Given the description of an element on the screen output the (x, y) to click on. 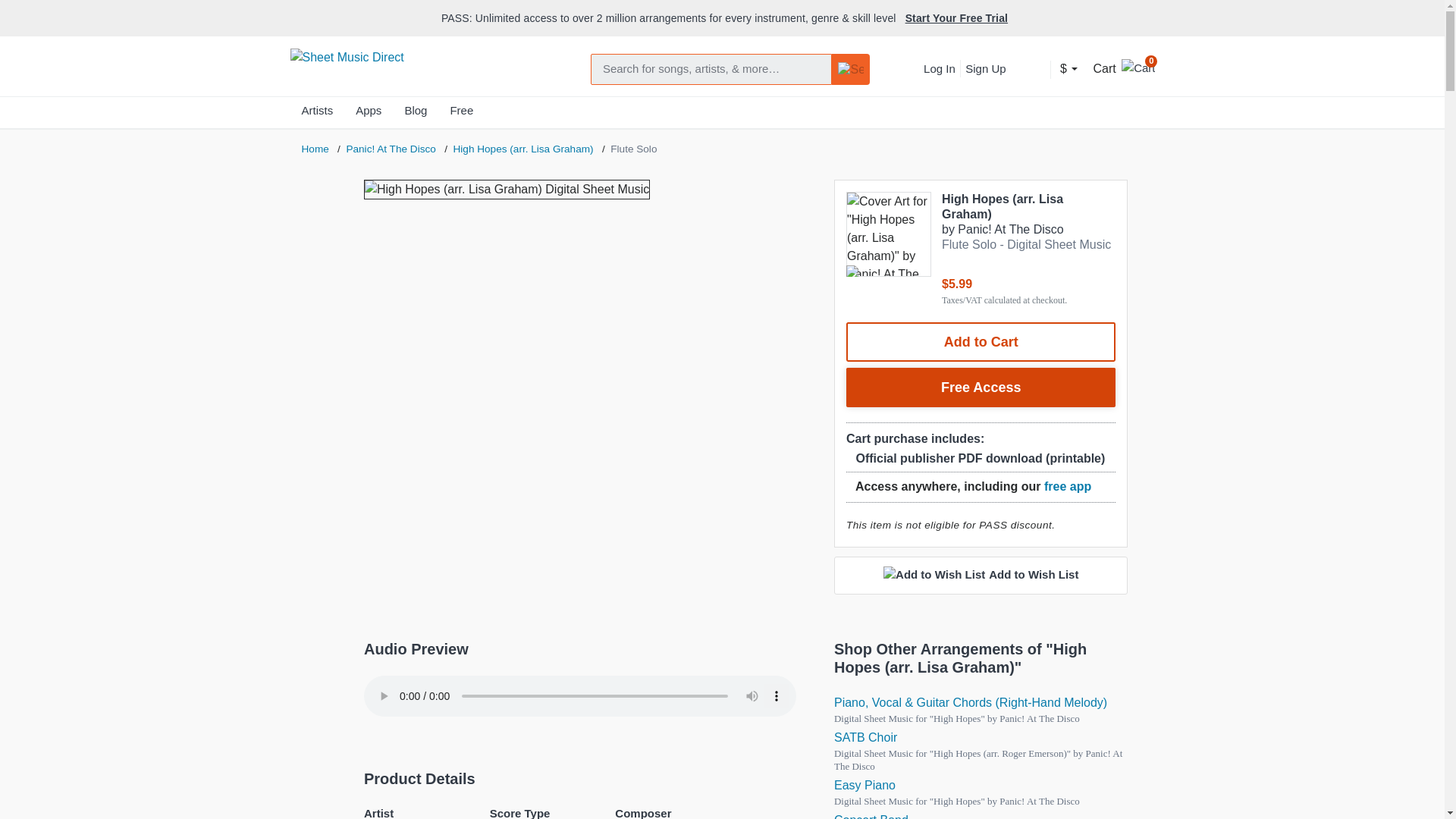
Start Your Free Trial (956, 18)
Sign Up (984, 68)
0 (1137, 65)
Submit (850, 69)
Apps (368, 113)
Free (461, 113)
Digital Sheet Music (865, 737)
Digital Sheet Music (864, 784)
Log In (939, 68)
Digital Sheet Music (970, 702)
Add to Cart (980, 341)
Search for sheet music (711, 69)
Artists (316, 113)
Blog (415, 113)
